Given the description of an element on the screen output the (x, y) to click on. 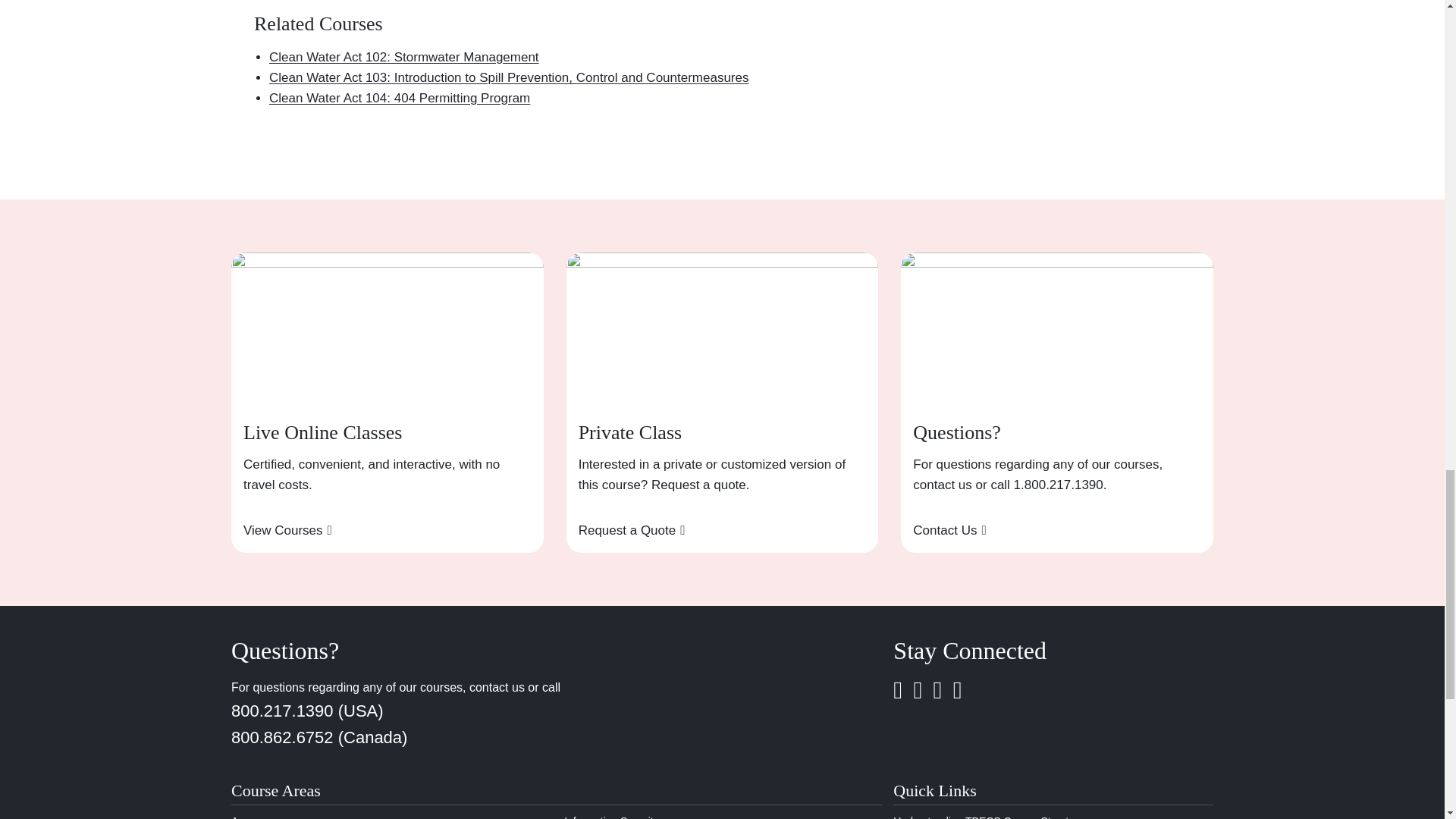
CWA 102 (403, 56)
CWA 104 (399, 97)
CWA 103 (509, 77)
